Given the description of an element on the screen output the (x, y) to click on. 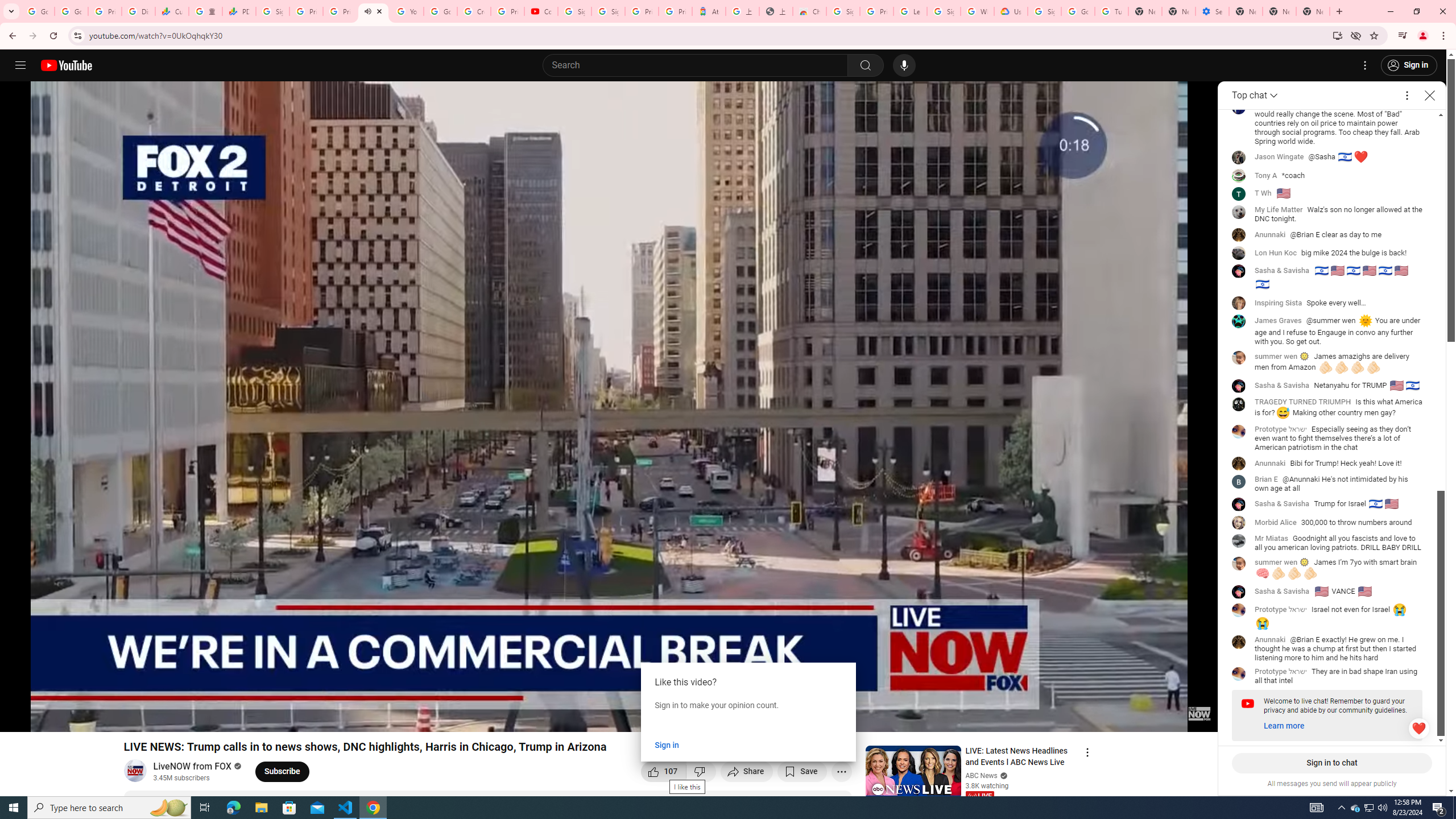
Channel watermark (1199, 713)
Google Workspace Admin Community (37, 11)
Google Account Help (441, 11)
LiveNOW from FOX (192, 766)
New Tab (1313, 11)
Turn cookies on or off - Computer - Google Account Help (1111, 11)
Save to playlist (802, 771)
